Given the description of an element on the screen output the (x, y) to click on. 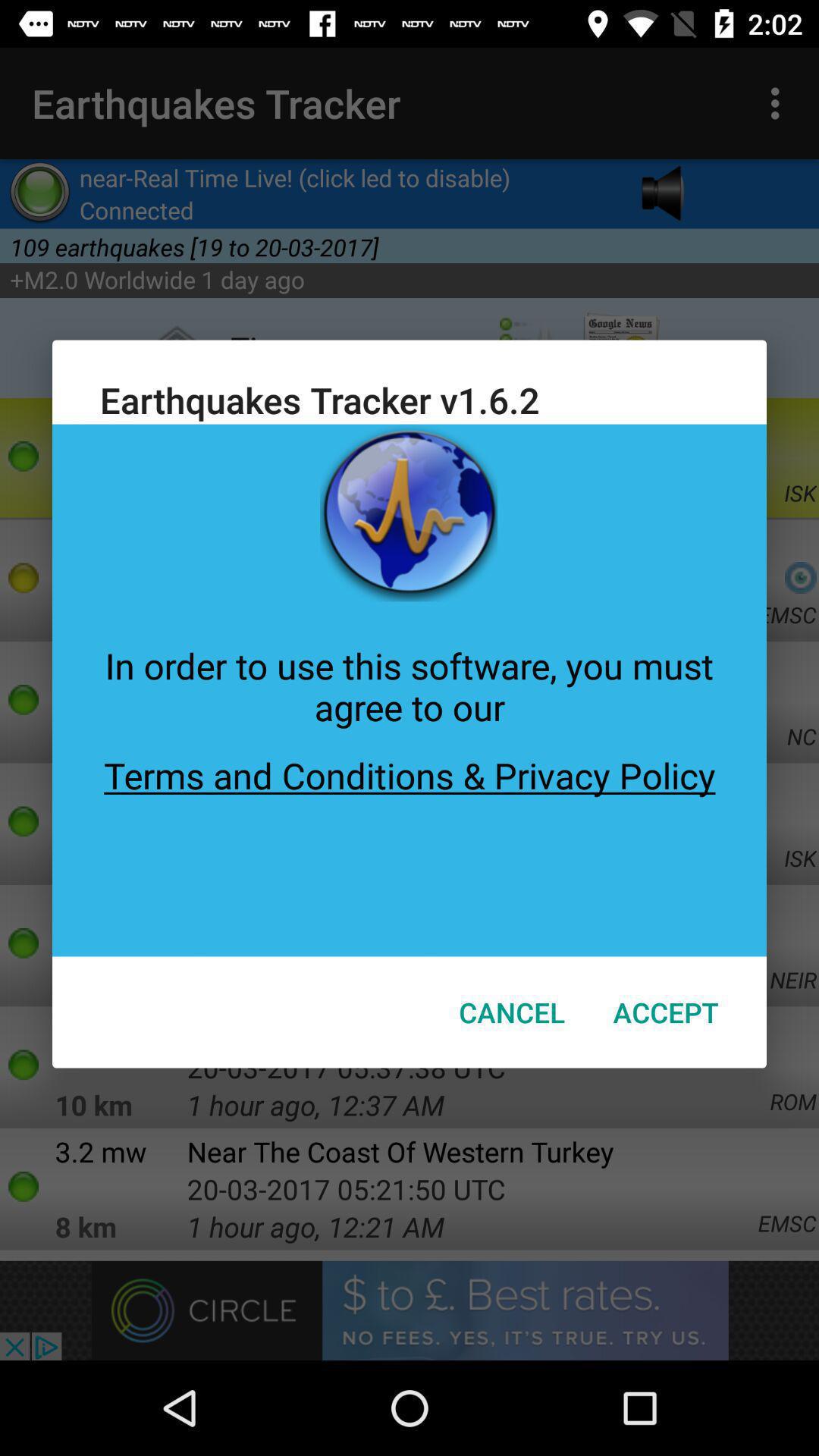
turn off item to the right of cancel item (665, 1012)
